Given the description of an element on the screen output the (x, y) to click on. 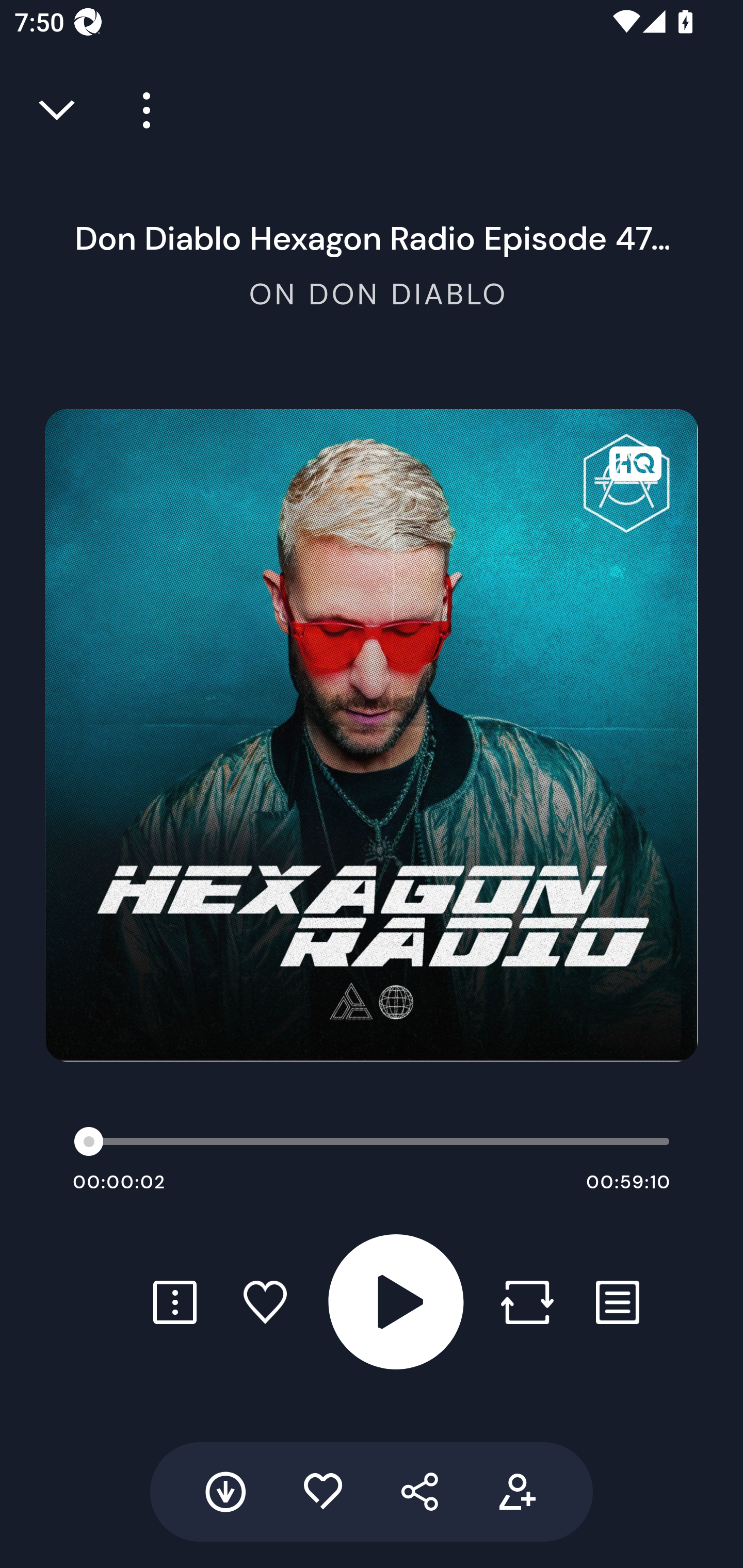
Close full player (58, 110)
Player more options button (139, 110)
Repost button (527, 1301)
